Given the description of an element on the screen output the (x, y) to click on. 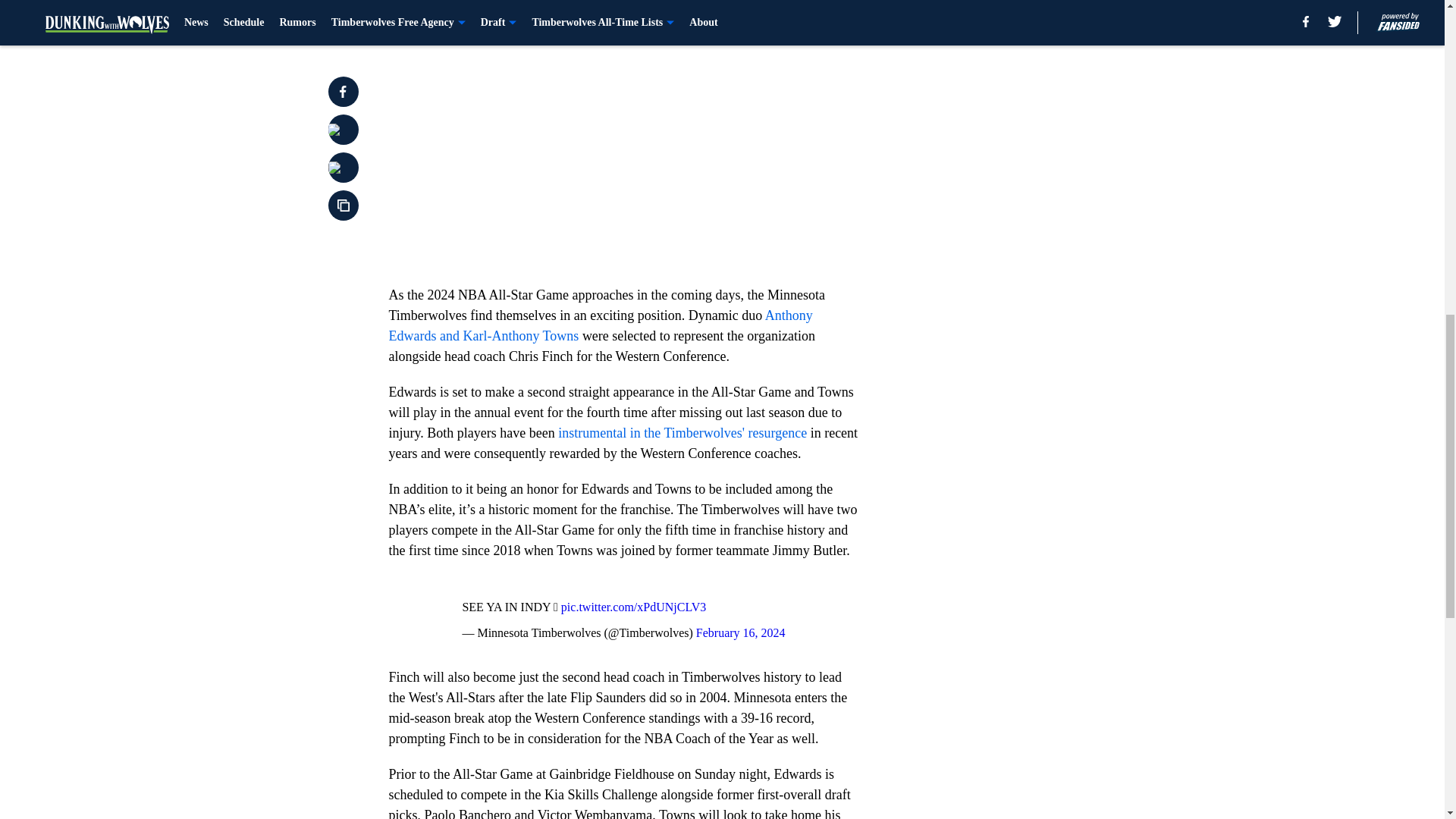
Anthony Edwards and Karl-Anthony Towns (600, 325)
February 16, 2024 (740, 632)
instrumental in the Timberwolves' resurgence (681, 432)
